Given the description of an element on the screen output the (x, y) to click on. 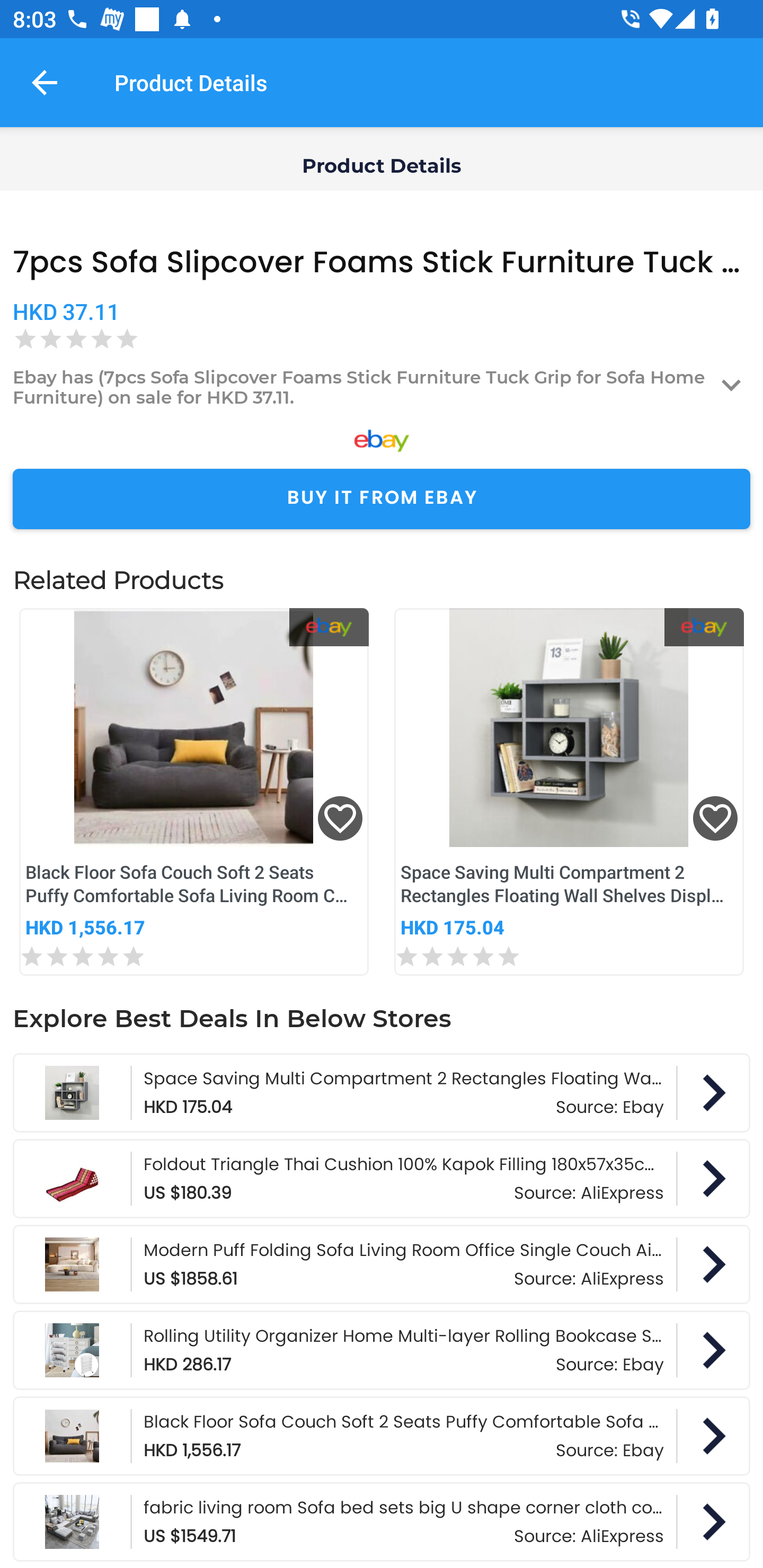
Navigate up (44, 82)
BUY IT FROM EBAY (381, 499)
